Given the description of an element on the screen output the (x, y) to click on. 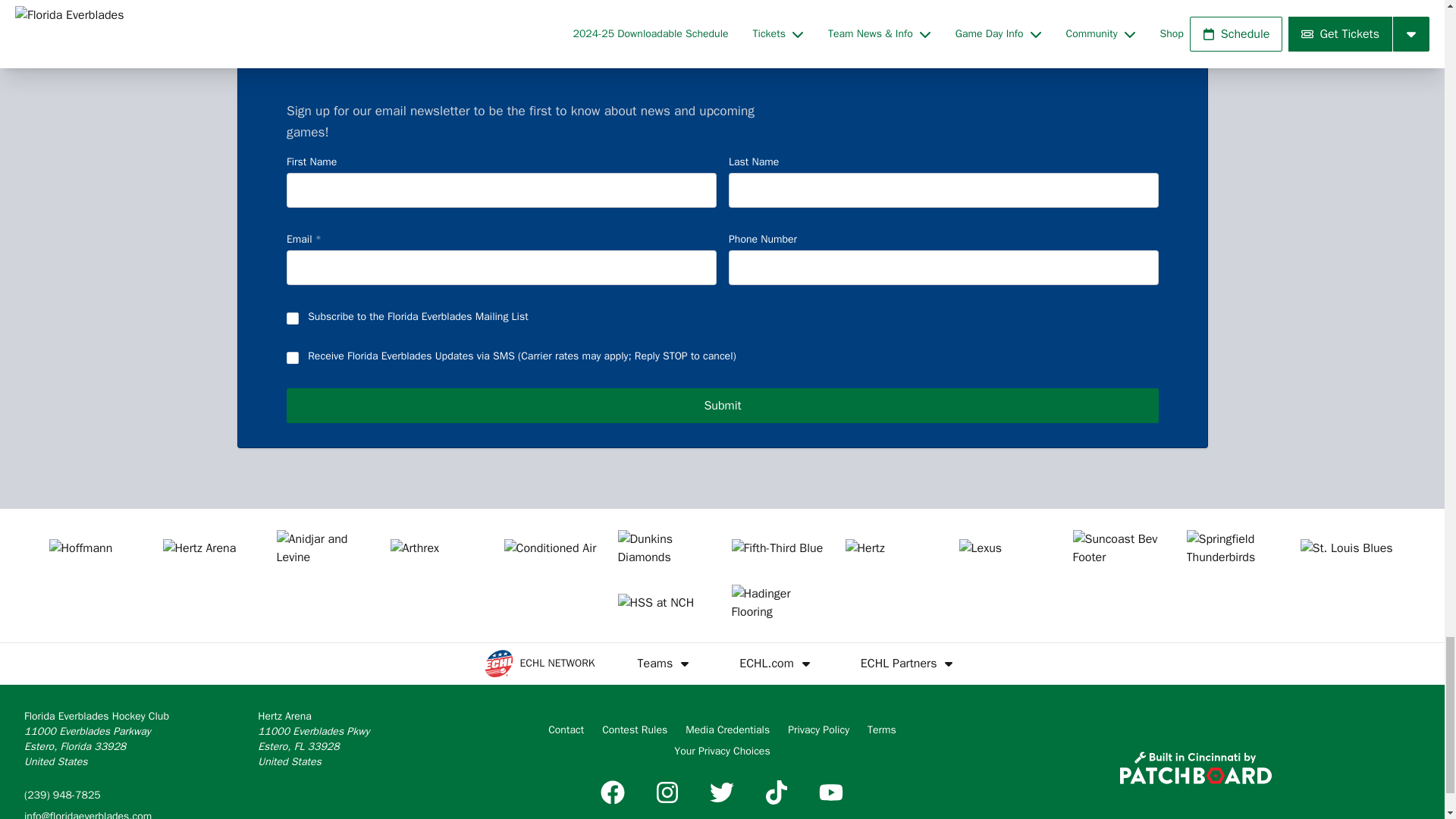
on (292, 318)
YouTube (830, 792)
Built in Cincinnati by Patchboard (1195, 767)
Twitter (721, 792)
Facebook (612, 792)
on (292, 357)
Instagram (667, 792)
TikTok (776, 792)
